Given the description of an element on the screen output the (x, y) to click on. 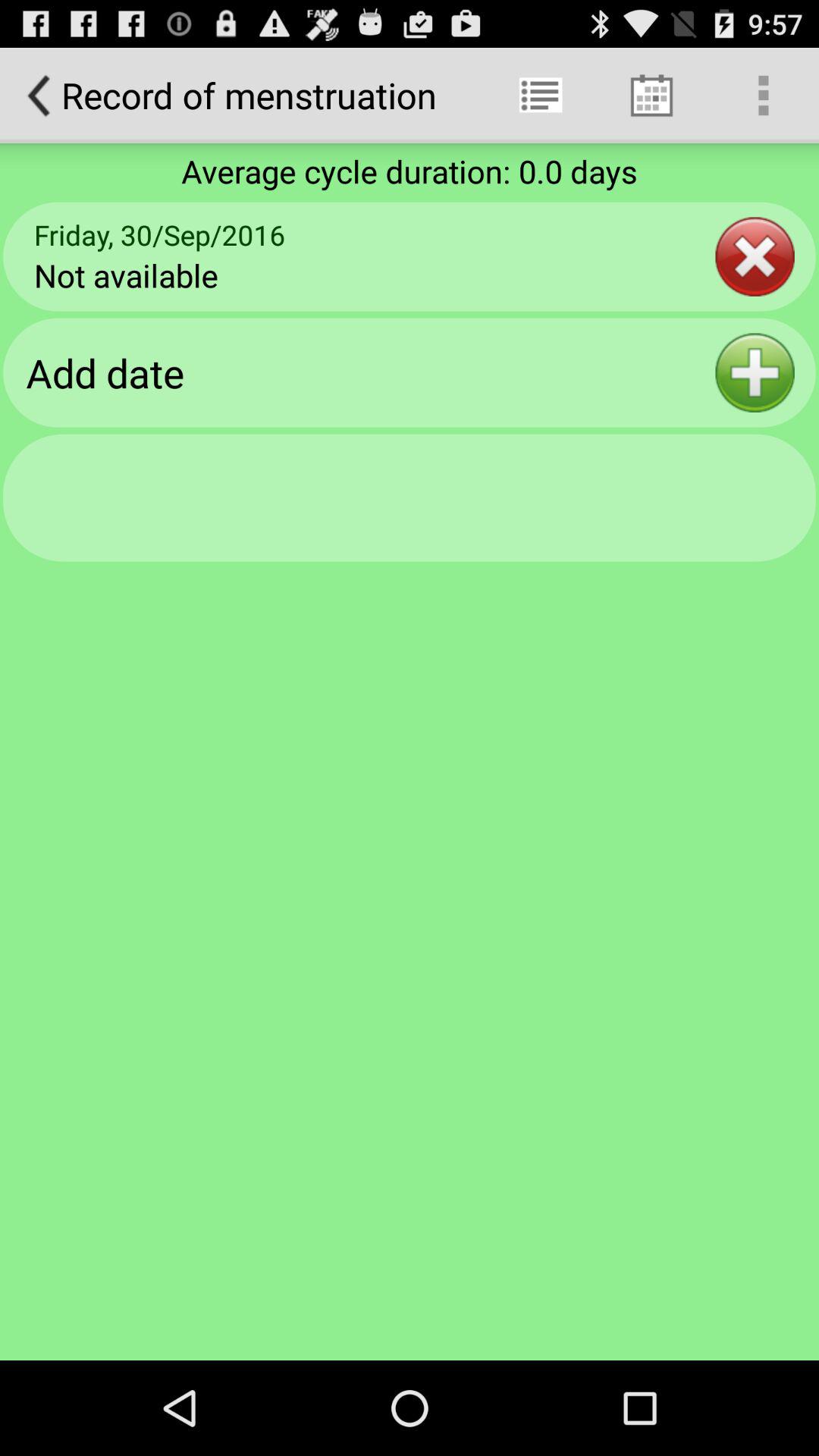
add date (754, 372)
